Given the description of an element on the screen output the (x, y) to click on. 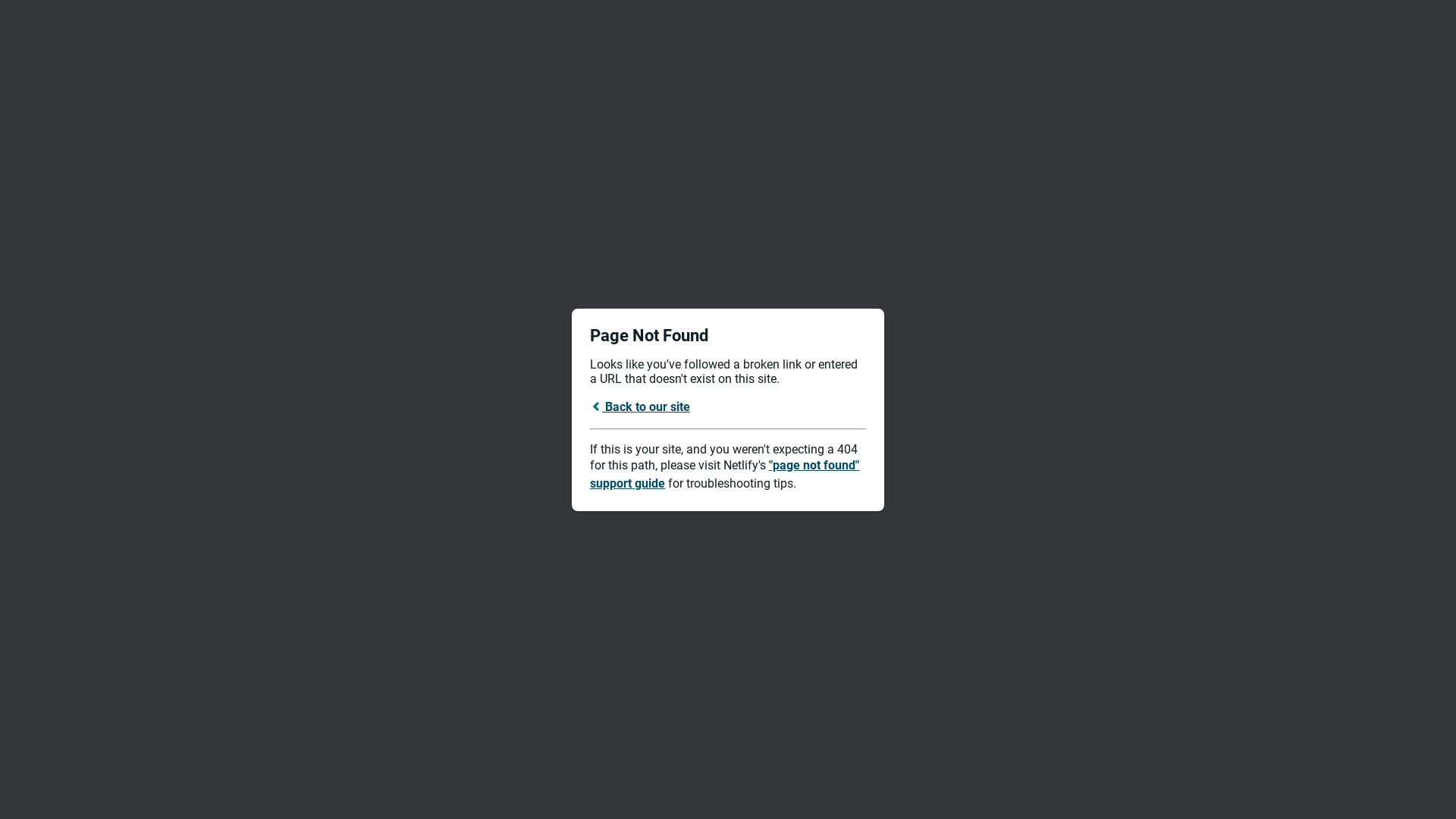
"page not found" support guide Element type: text (724, 474)
Back to our site Element type: text (639, 405)
